Given the description of an element on the screen output the (x, y) to click on. 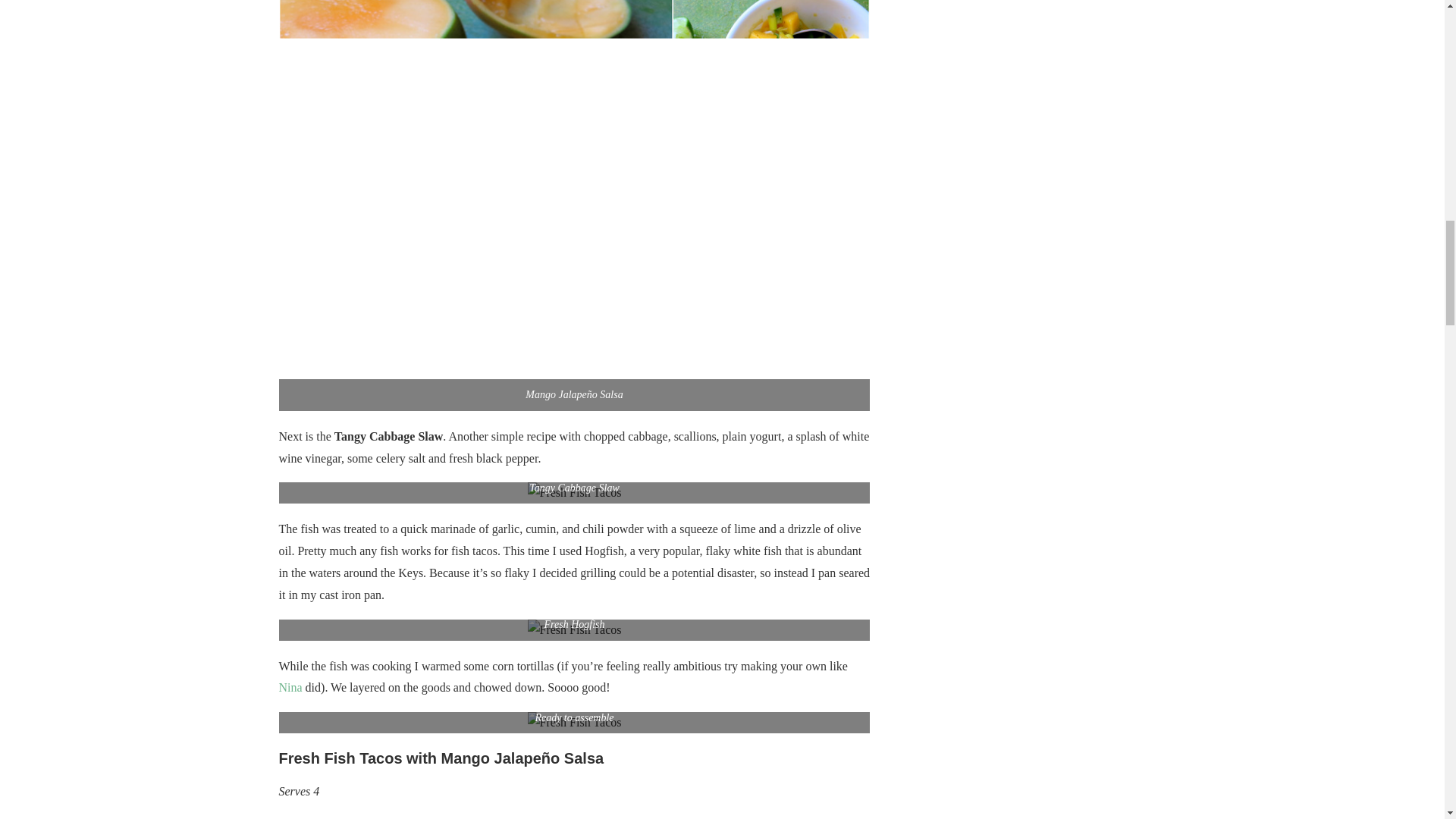
Nina (290, 686)
